Given the description of an element on the screen output the (x, y) to click on. 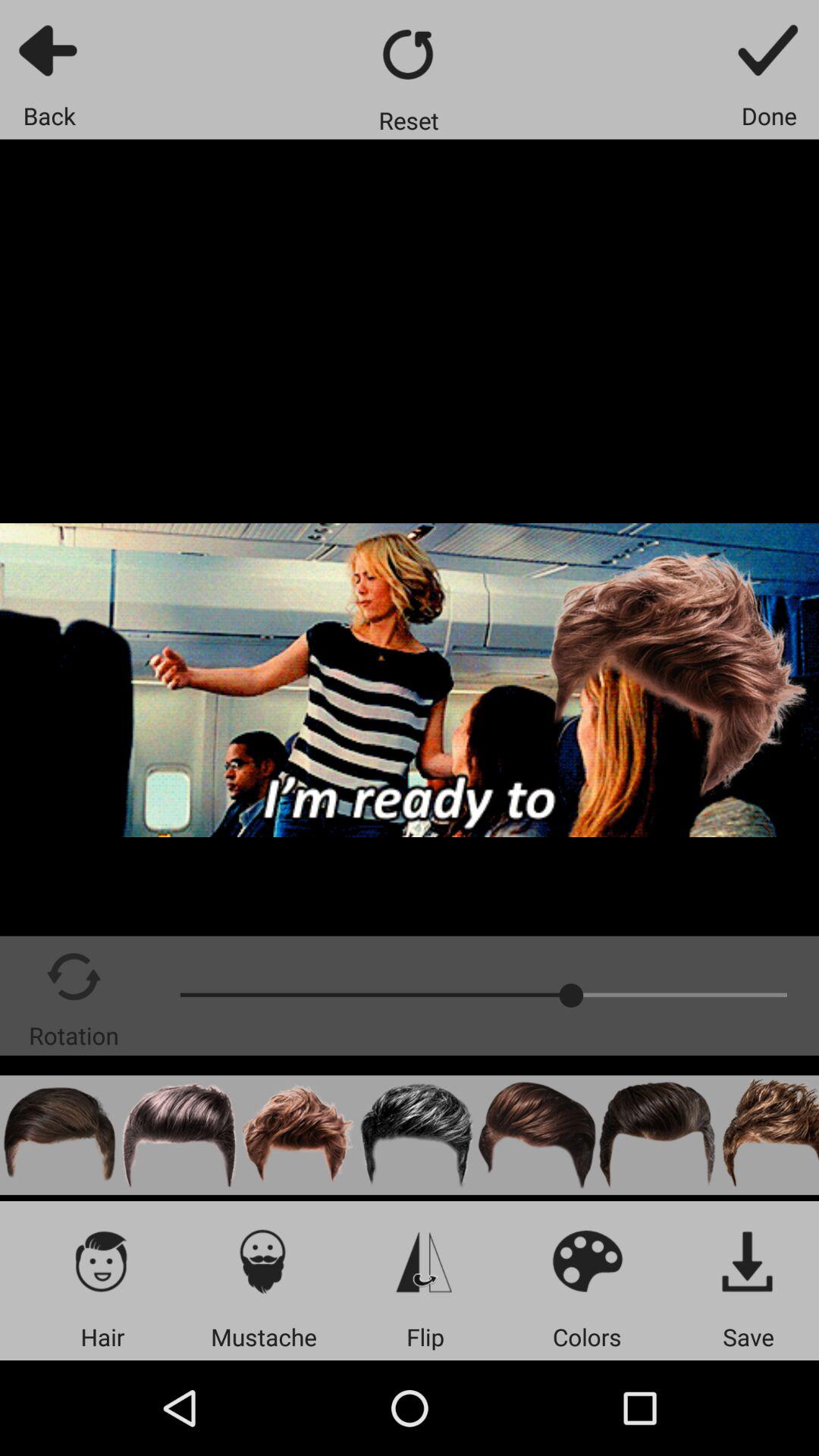
choose hair style (102, 1260)
